Given the description of an element on the screen output the (x, y) to click on. 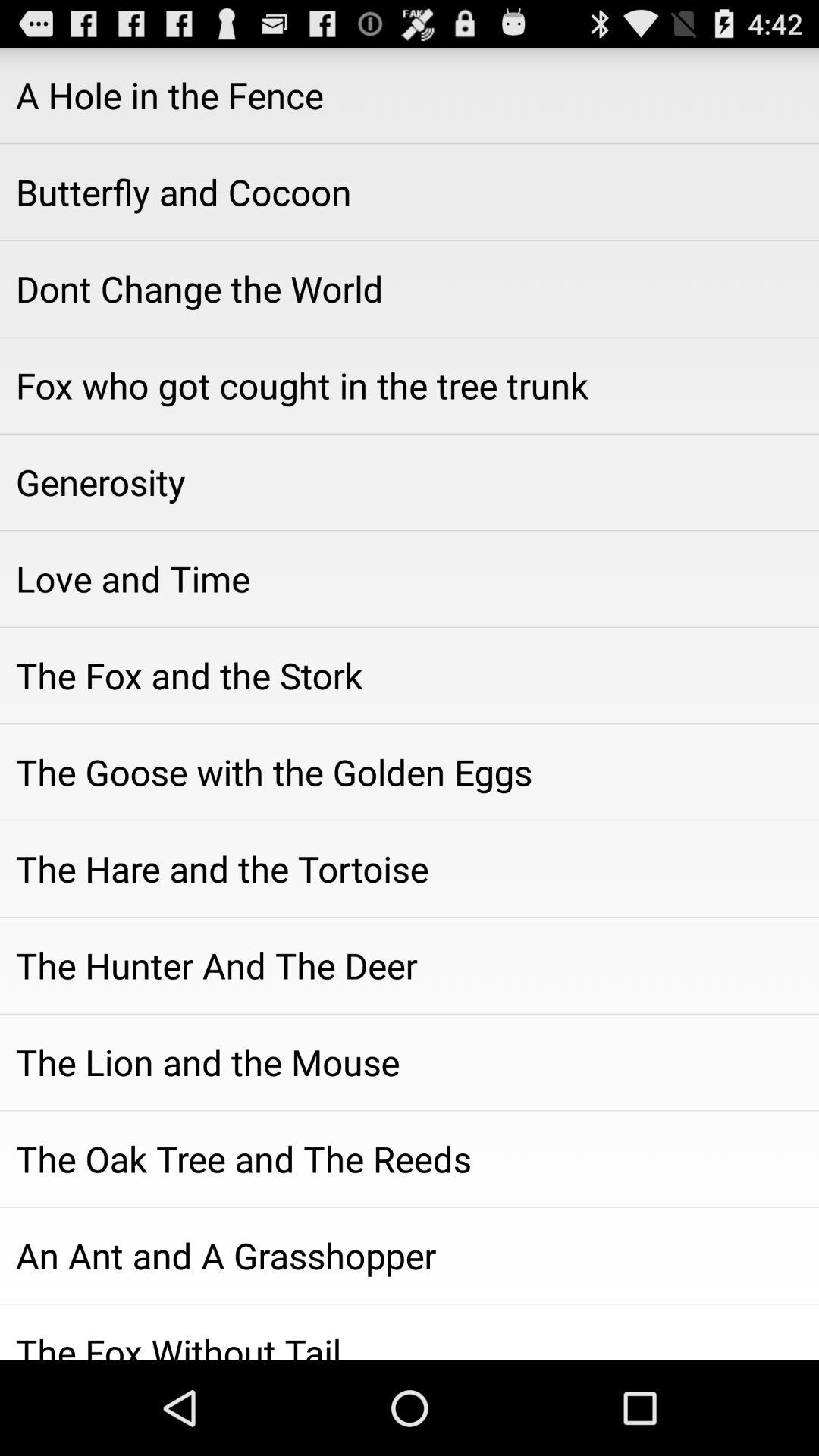
flip until an ant and icon (409, 1255)
